Given the description of an element on the screen output the (x, y) to click on. 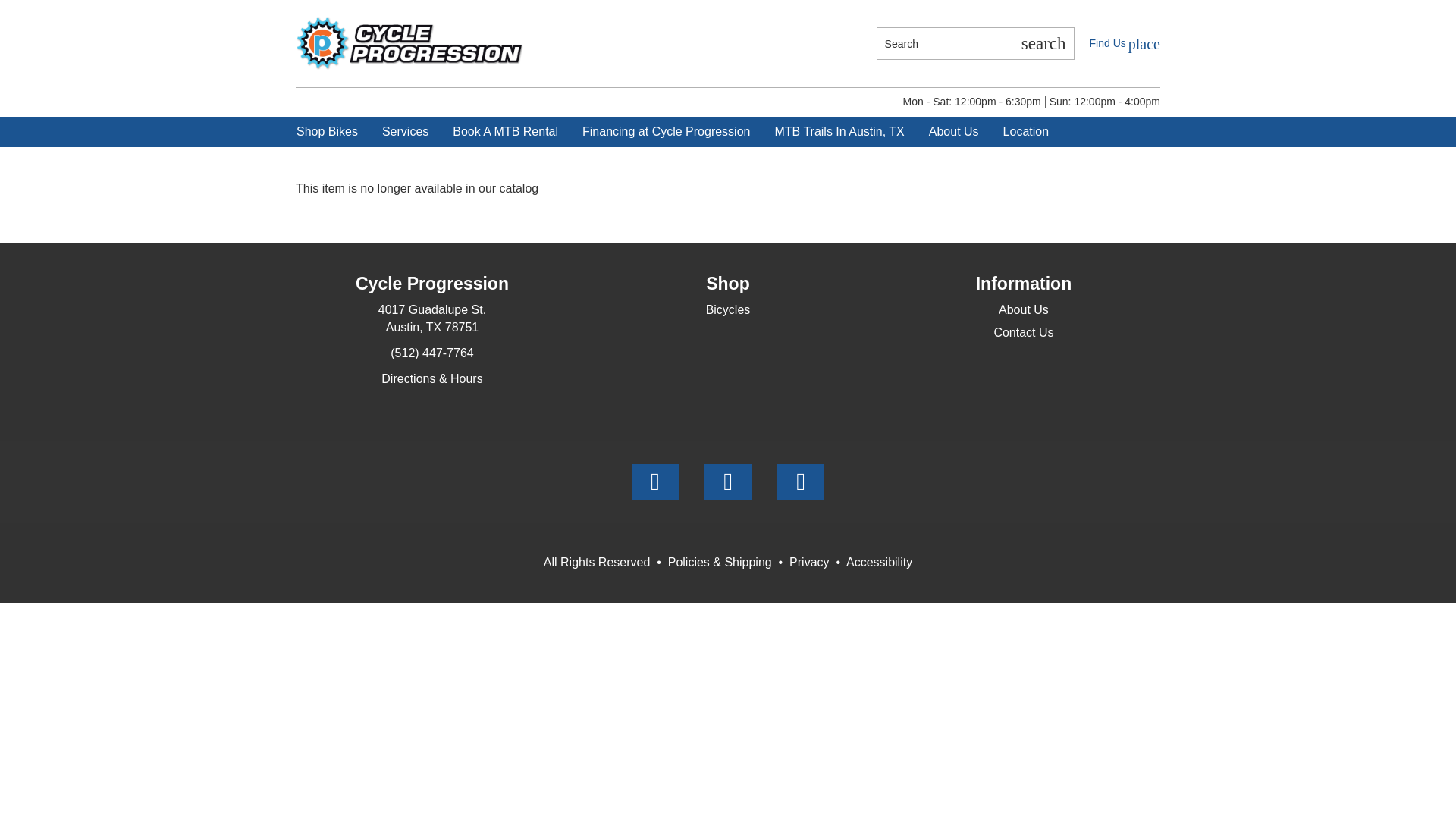
Cycle Progression Home Page (408, 42)
Financing at Cycle Progression (665, 132)
Yelp (800, 482)
Search (944, 43)
MTB Trails In Austin, TX (838, 132)
Instagram (727, 482)
Book A MTB Rental (505, 132)
Shop Bikes (327, 132)
Bicycles (728, 309)
Search (1042, 43)
